Given the description of an element on the screen output the (x, y) to click on. 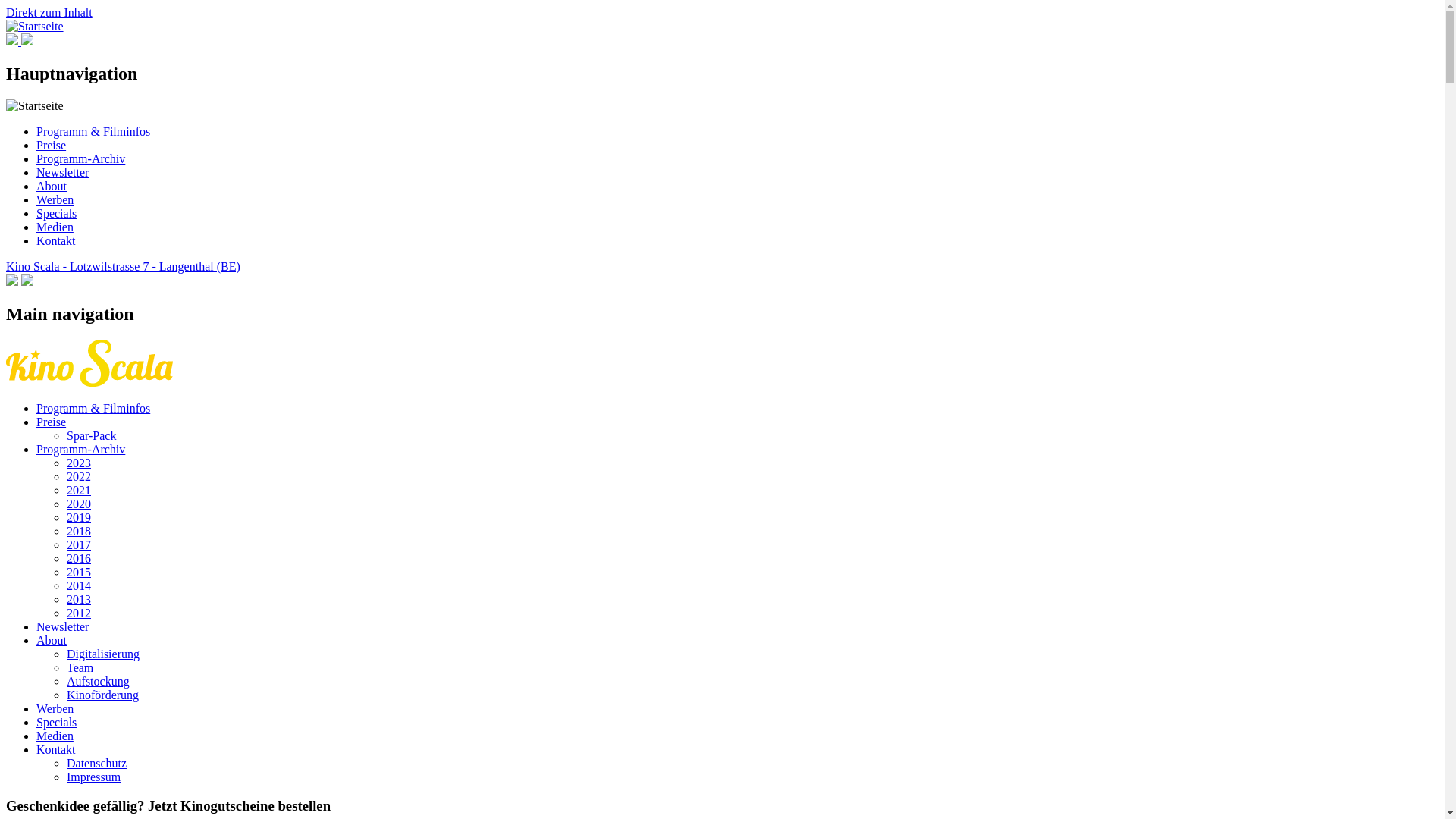
Kontakt Element type: text (55, 749)
About Element type: text (51, 185)
Team Element type: text (79, 667)
Preise Element type: text (50, 144)
Newsletter Element type: text (62, 626)
2019 Element type: text (78, 517)
Programm-Archiv Element type: text (80, 158)
2021 Element type: text (78, 489)
Medien Element type: text (54, 735)
2023 Element type: text (78, 462)
Digitalisierung Element type: text (102, 653)
2013 Element type: text (78, 599)
Werben Element type: text (54, 708)
Specials Element type: text (56, 213)
Newsletter Element type: text (62, 172)
Kontakt Element type: text (55, 240)
Direkt zum Inhalt Element type: text (49, 12)
Datenschutz Element type: text (96, 762)
2012 Element type: text (78, 612)
Programm-Archiv Element type: text (80, 448)
Werben Element type: text (54, 199)
2016 Element type: text (78, 558)
2015 Element type: text (78, 571)
2014 Element type: text (78, 585)
2018 Element type: text (78, 530)
Specials Element type: text (56, 721)
Aufstockung Element type: text (97, 680)
Preise Element type: text (50, 421)
Impressum Element type: text (93, 776)
2017 Element type: text (78, 544)
Spar-Pack Element type: text (91, 435)
Kino Scala - Lotzwilstrasse 7 - Langenthal (BE) Element type: text (123, 266)
2022 Element type: text (78, 476)
Programm & Filminfos Element type: text (93, 131)
2020 Element type: text (78, 503)
Medien Element type: text (54, 226)
About Element type: text (51, 639)
Programm & Filminfos Element type: text (93, 407)
